Given the description of an element on the screen output the (x, y) to click on. 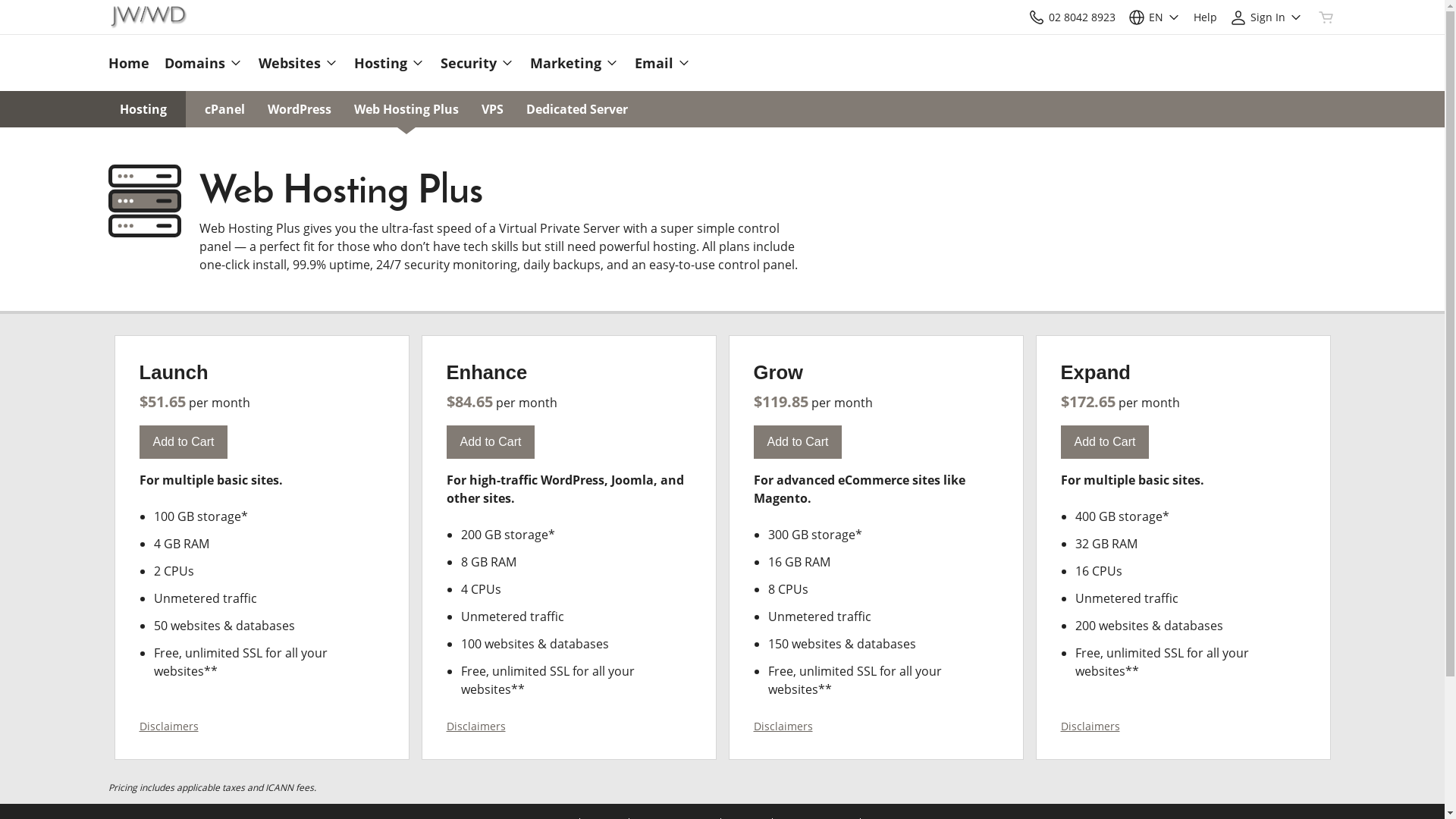
Web Hosting Plus Element type: text (405, 108)
Disclaimers Element type: text (1089, 726)
Disclaimers Element type: text (168, 726)
Sign In Element type: text (1265, 17)
EN Element type: text (1153, 17)
Contact Us Element type: hover (1035, 17)
Disclaimers Element type: text (475, 726)
Help Element type: text (1205, 17)
Websites Element type: text (297, 62)
02 8042 8923 Element type: text (1070, 17)
VPS Element type: text (491, 108)
Add to Cart Element type: text (1104, 441)
Disclaimers Element type: text (782, 726)
Add to Cart Element type: text (489, 441)
Hosting Element type: text (388, 62)
Home Element type: text (131, 62)
WordPress Element type: text (298, 108)
Domains Element type: text (203, 62)
Add to Cart Element type: text (797, 441)
Marketing Element type: text (573, 62)
cPanel Element type: text (224, 108)
Dedicated Server Element type: text (576, 108)
Email Element type: text (658, 62)
Security Element type: text (476, 62)
Add to Cart Element type: text (183, 441)
